Given the description of an element on the screen output the (x, y) to click on. 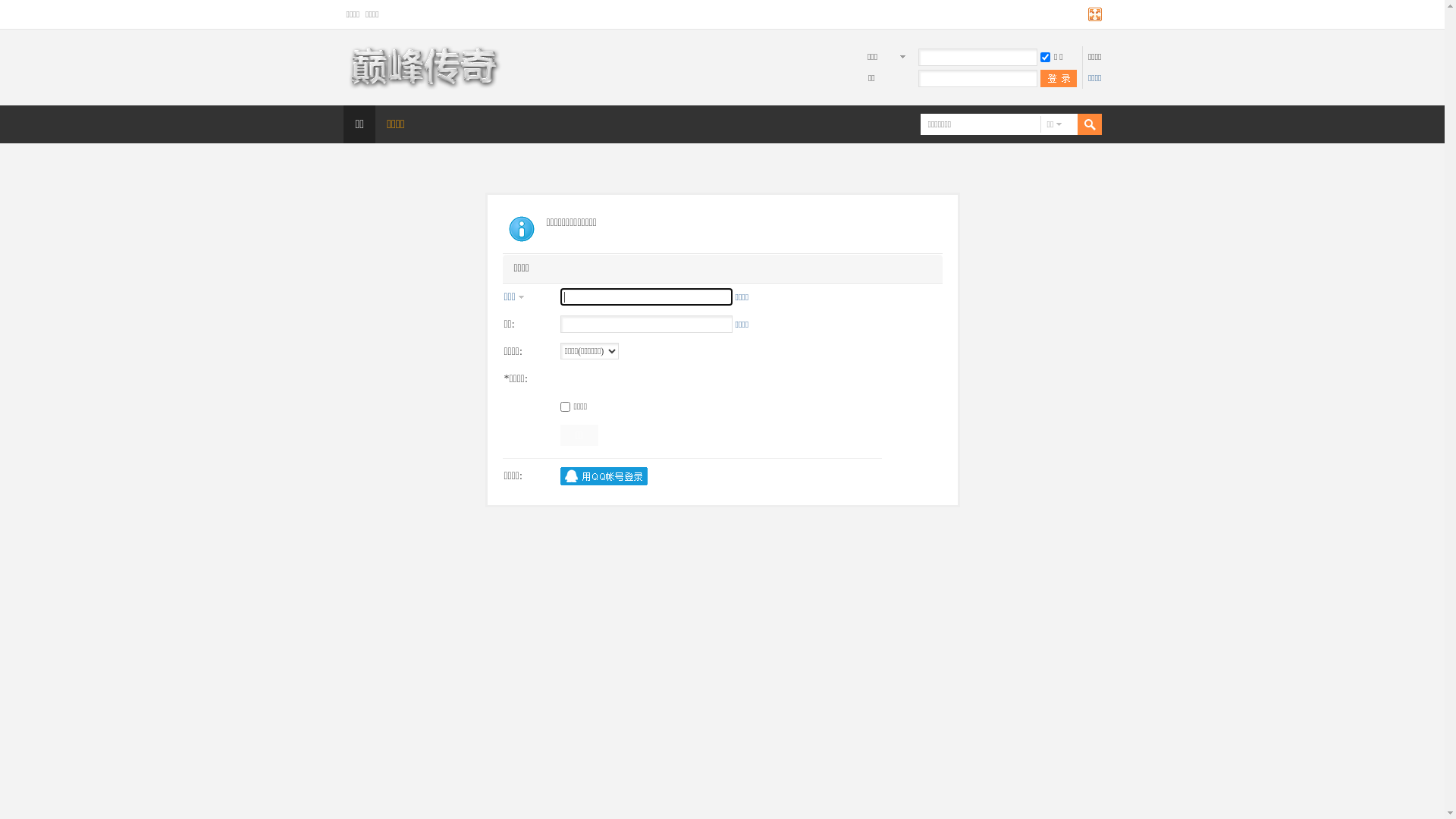
     Element type: text (1058, 78)
Discuz! Board Element type: hover (422, 87)
   Element type: text (1076, 124)
